Given the description of an element on the screen output the (x, y) to click on. 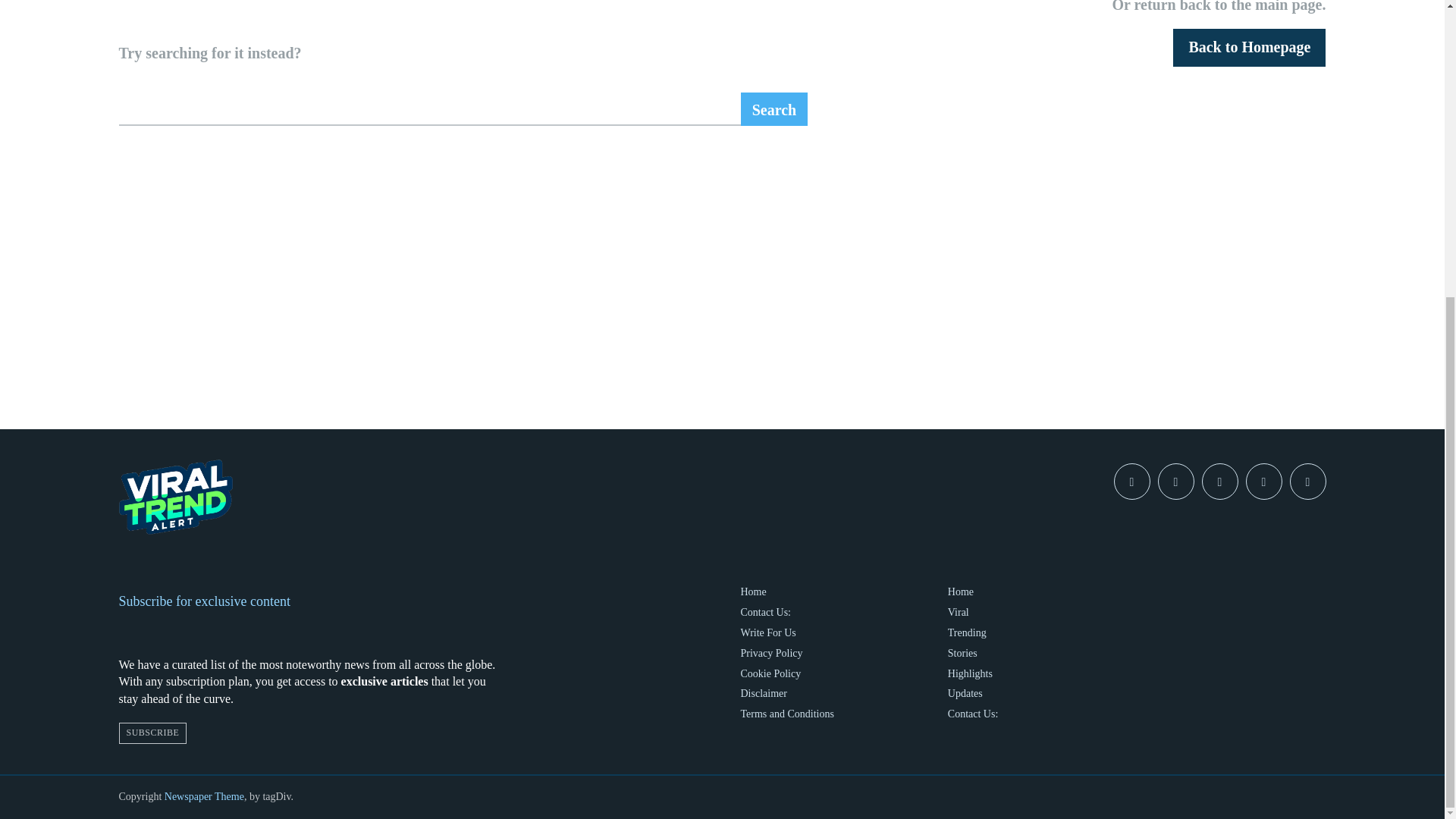
Facebook (1131, 481)
Paypal (1219, 481)
Instagram (1175, 481)
